Given the description of an element on the screen output the (x, y) to click on. 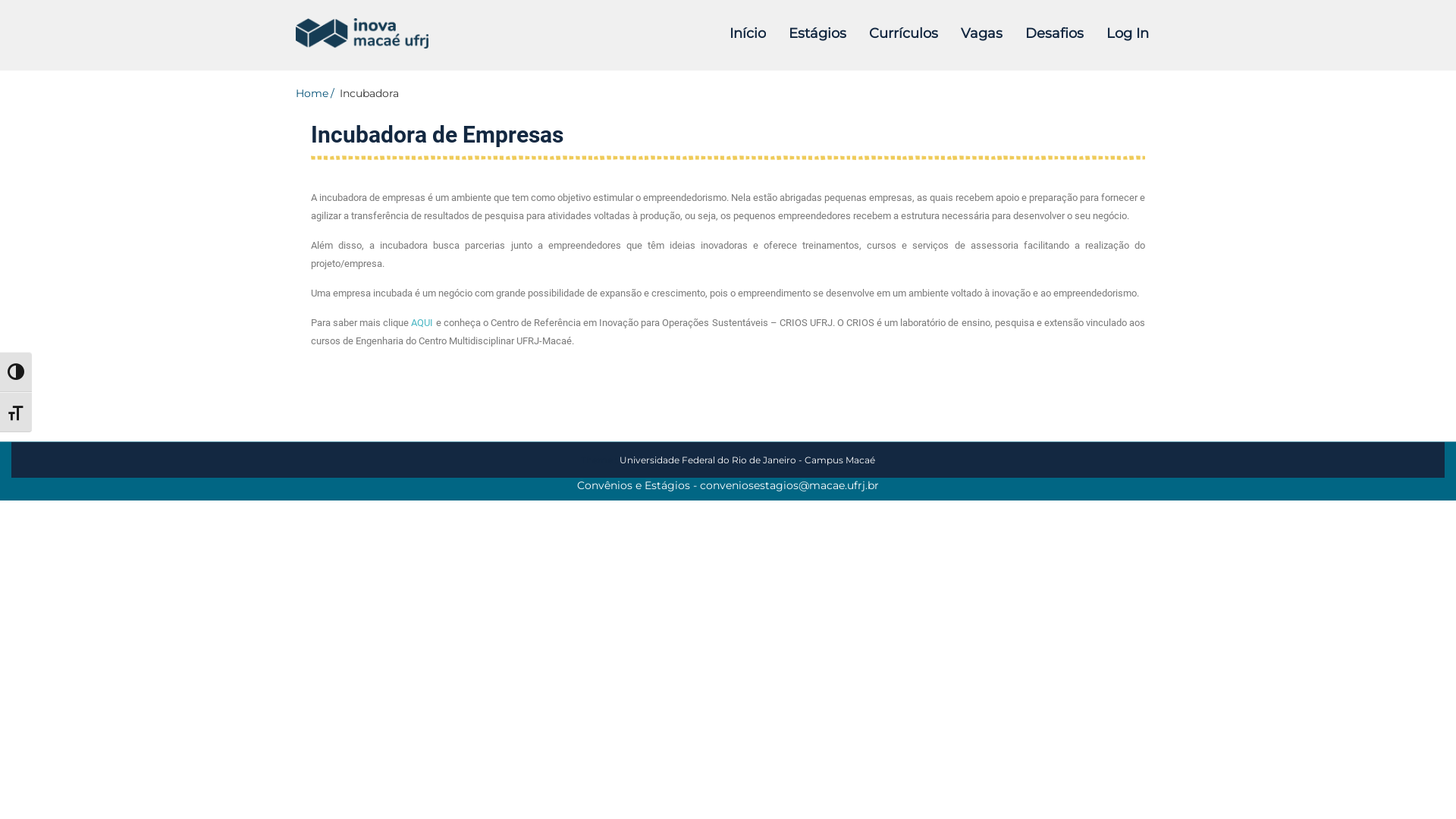
Home Element type: text (315, 93)
Log In Element type: text (1127, 33)
Alternar Tamanho da Fonte Element type: text (15, 412)
AQUI Element type: text (422, 322)
Alternar Alto Contraste Element type: text (15, 371)
Desafios Element type: text (1054, 33)
Vagas Element type: text (981, 33)
